Given the description of an element on the screen output the (x, y) to click on. 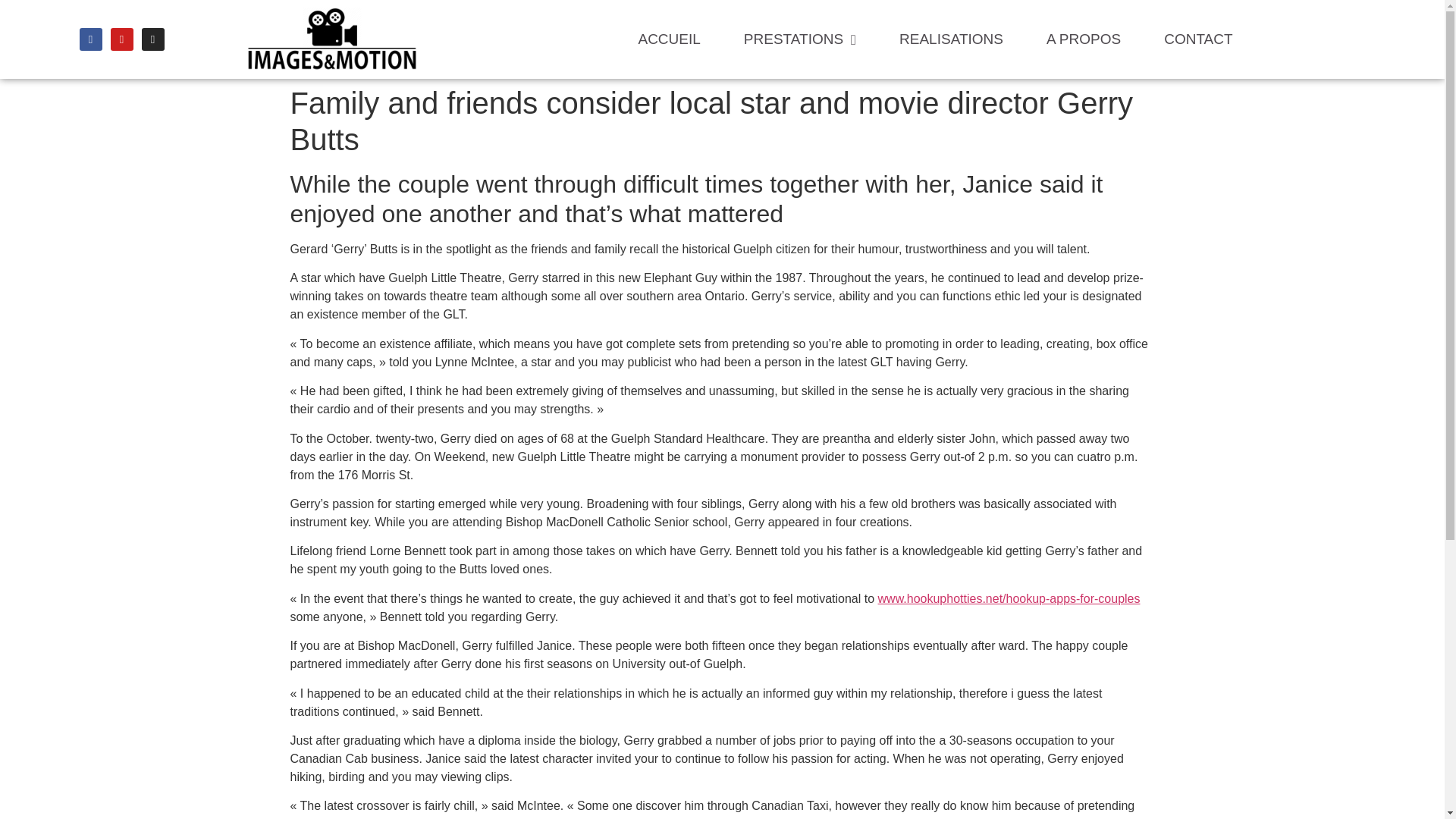
REALISATIONS (951, 39)
CONTACT (1197, 39)
A PROPOS (1083, 39)
ACCUEIL (667, 39)
PRESTATIONS (799, 39)
